Given the description of an element on the screen output the (x, y) to click on. 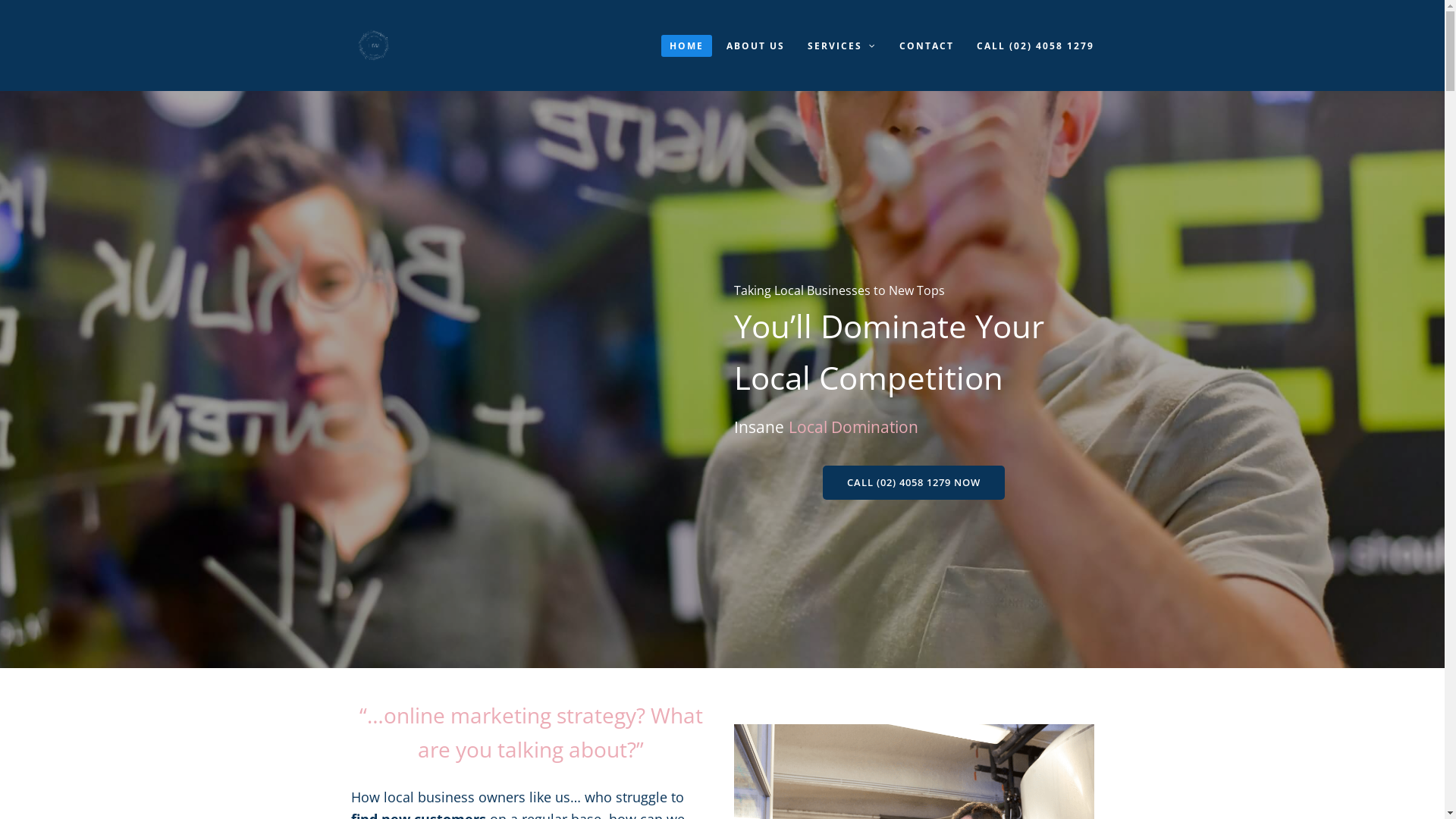
CALL (02) 4058 1279 NOW Element type: text (913, 482)
SERVICES Element type: text (842, 45)
CALL (02) 4058 1279 Element type: text (1034, 45)
ABOUT US Element type: text (754, 45)
CONTACT Element type: text (925, 45)
HOME Element type: text (686, 45)
